Given the description of an element on the screen output the (x, y) to click on. 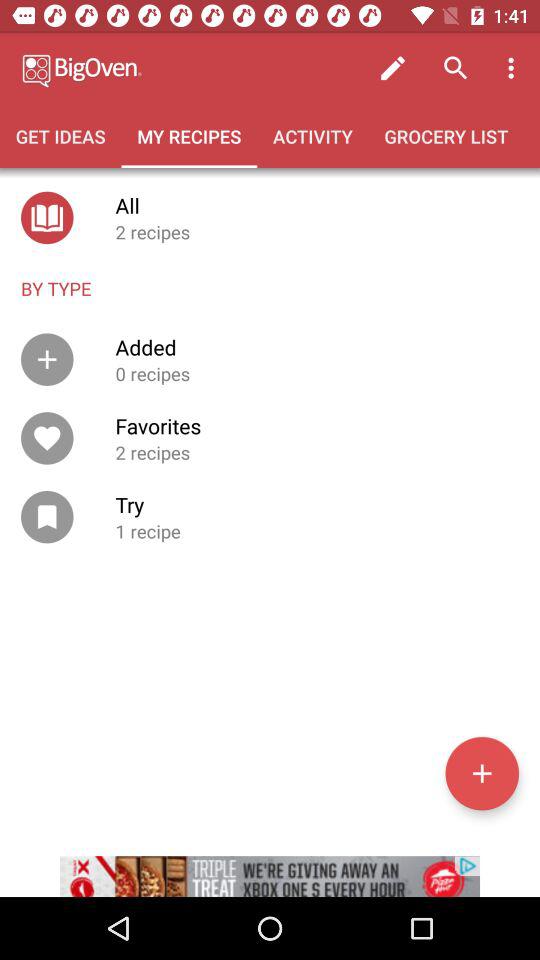
advertisement (270, 864)
